Given the description of an element on the screen output the (x, y) to click on. 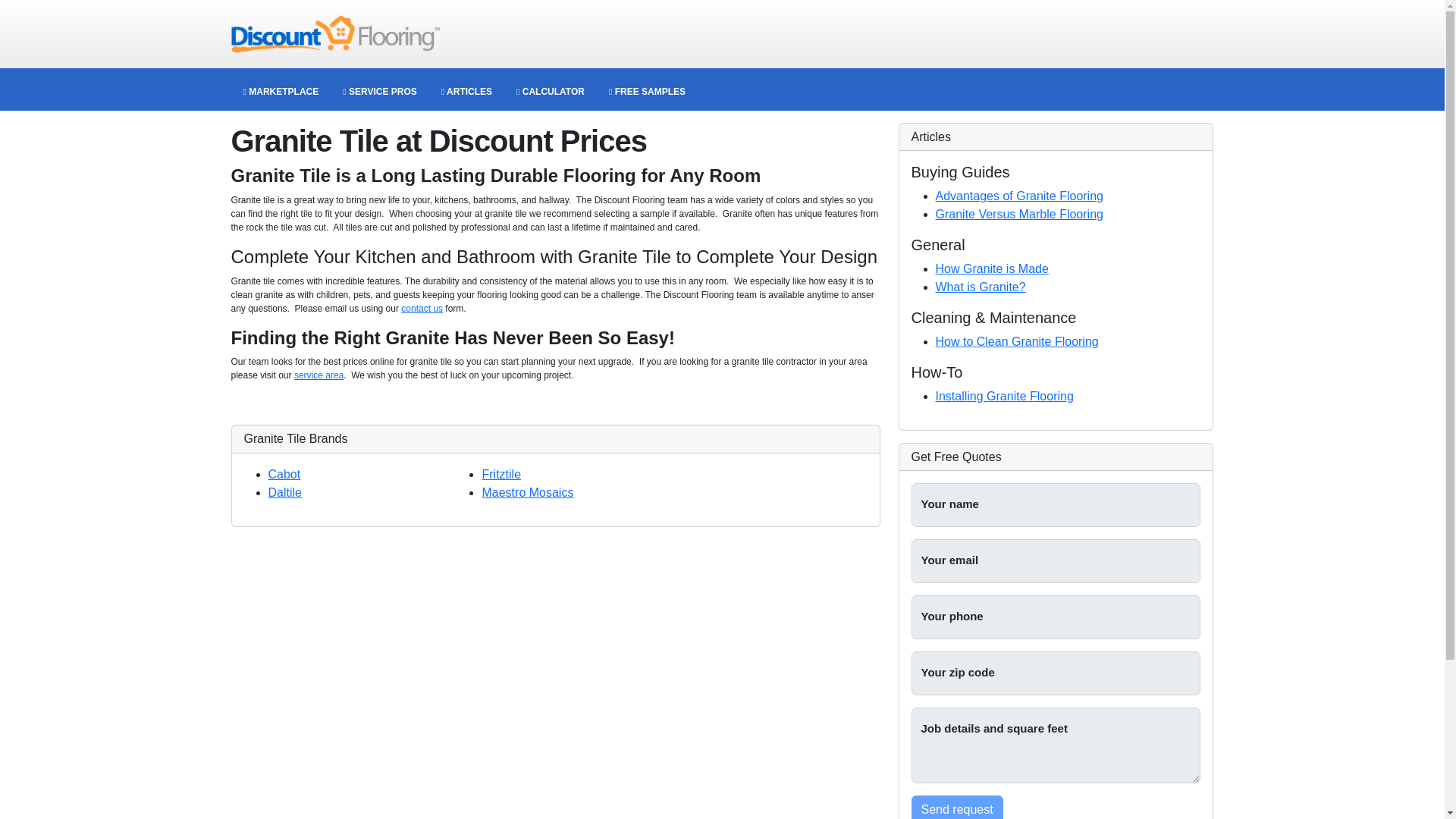
MARKETPLACE (280, 91)
How Granite is Made (992, 268)
How to Clean Granite Flooring (1017, 341)
Daltile (284, 492)
SERVICE PROS (379, 91)
service area (318, 375)
Send request (957, 807)
CALCULATOR (549, 91)
Cabot (284, 473)
Granite Versus Marble Flooring (1019, 214)
